Given the description of an element on the screen output the (x, y) to click on. 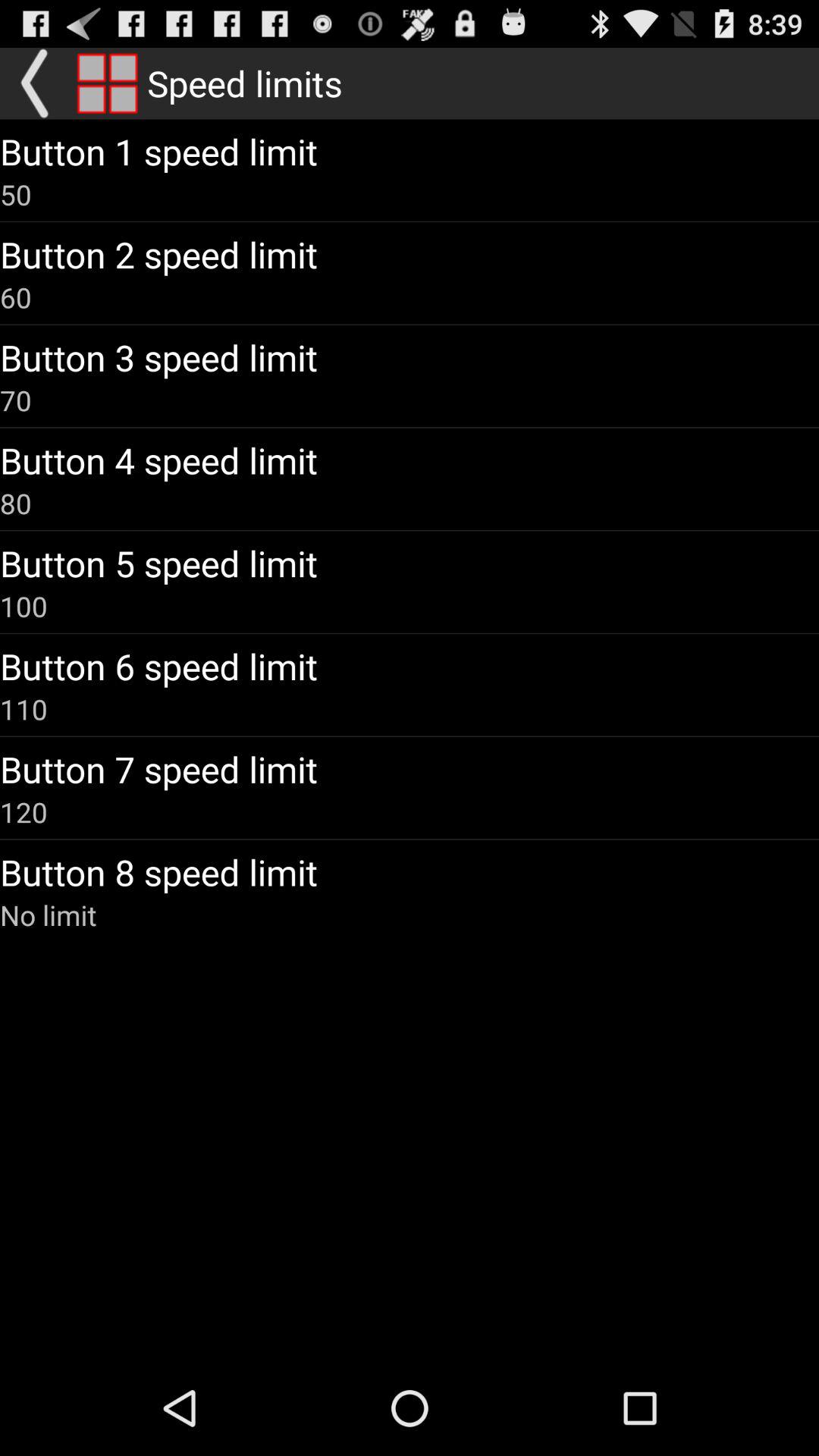
choose the 70 item (15, 400)
